Given the description of an element on the screen output the (x, y) to click on. 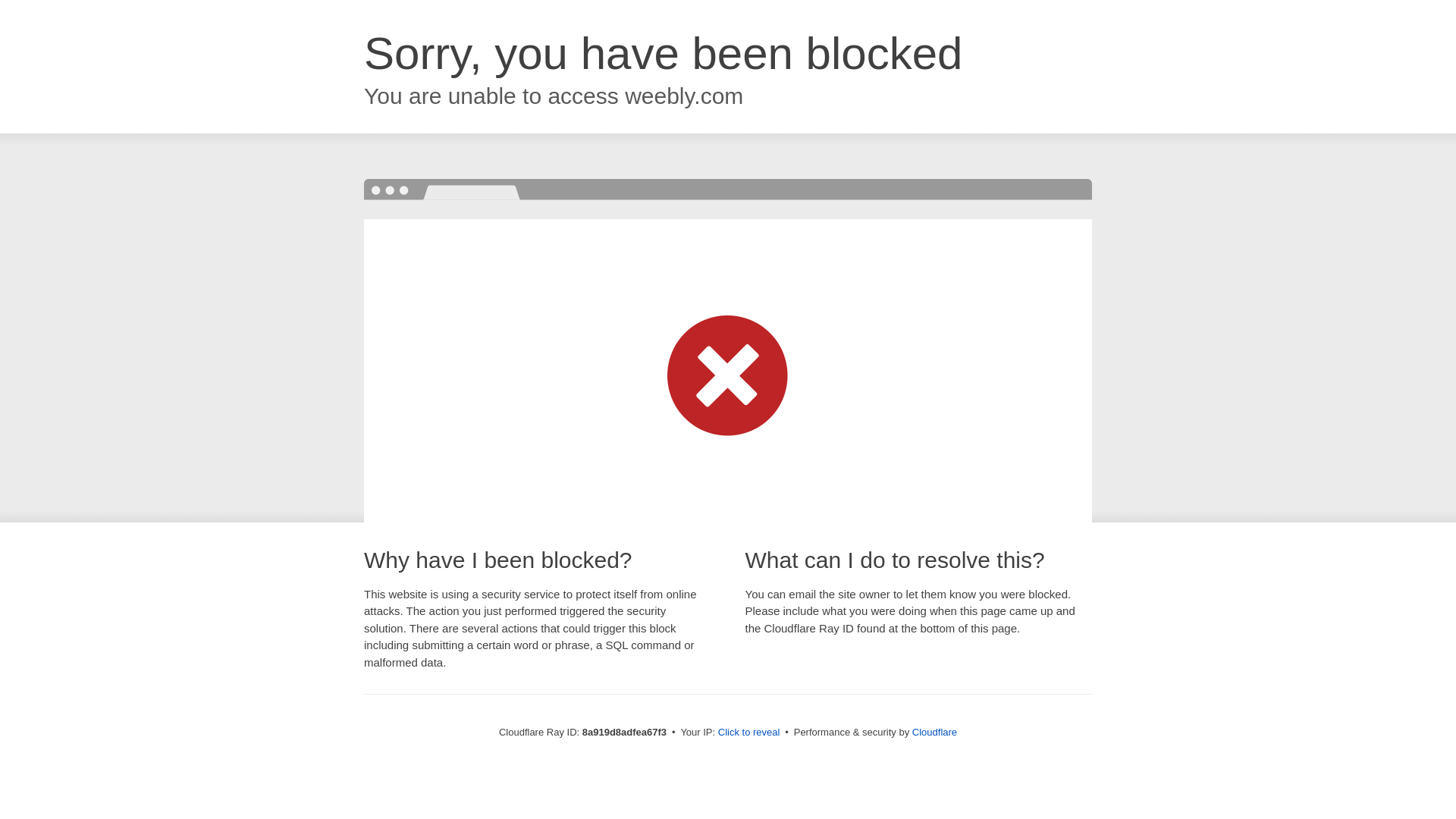
Cloudflare (934, 731)
Click to reveal (748, 732)
